Given the description of an element on the screen output the (x, y) to click on. 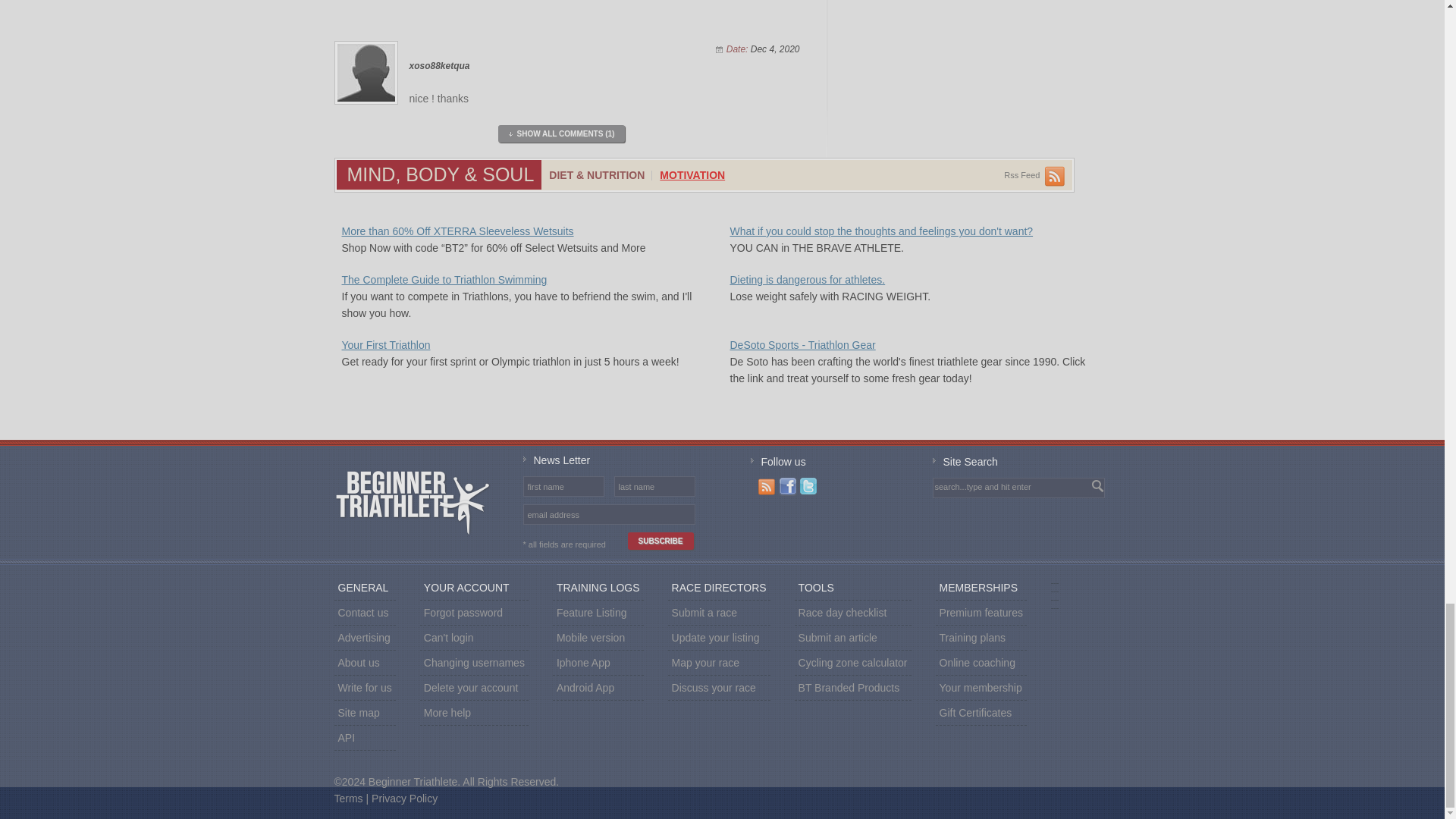
email address (608, 514)
last name (654, 486)
first name (562, 486)
search...type and hit enter (1000, 486)
